Given the description of an element on the screen output the (x, y) to click on. 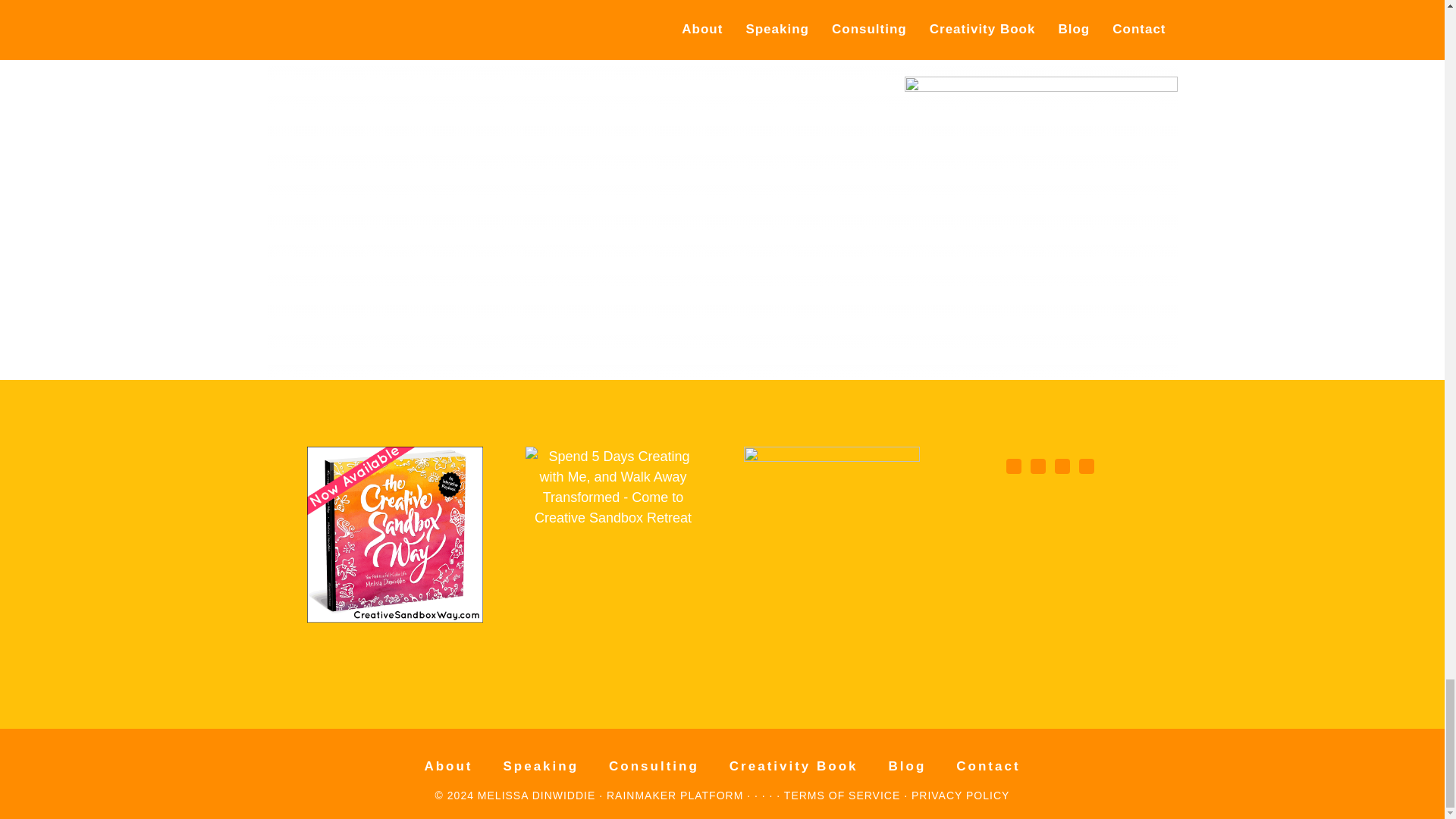
Instagram (1037, 466)
YouTube (1086, 466)
Facebook (1013, 466)
Twitter (1061, 466)
